Given the description of an element on the screen output the (x, y) to click on. 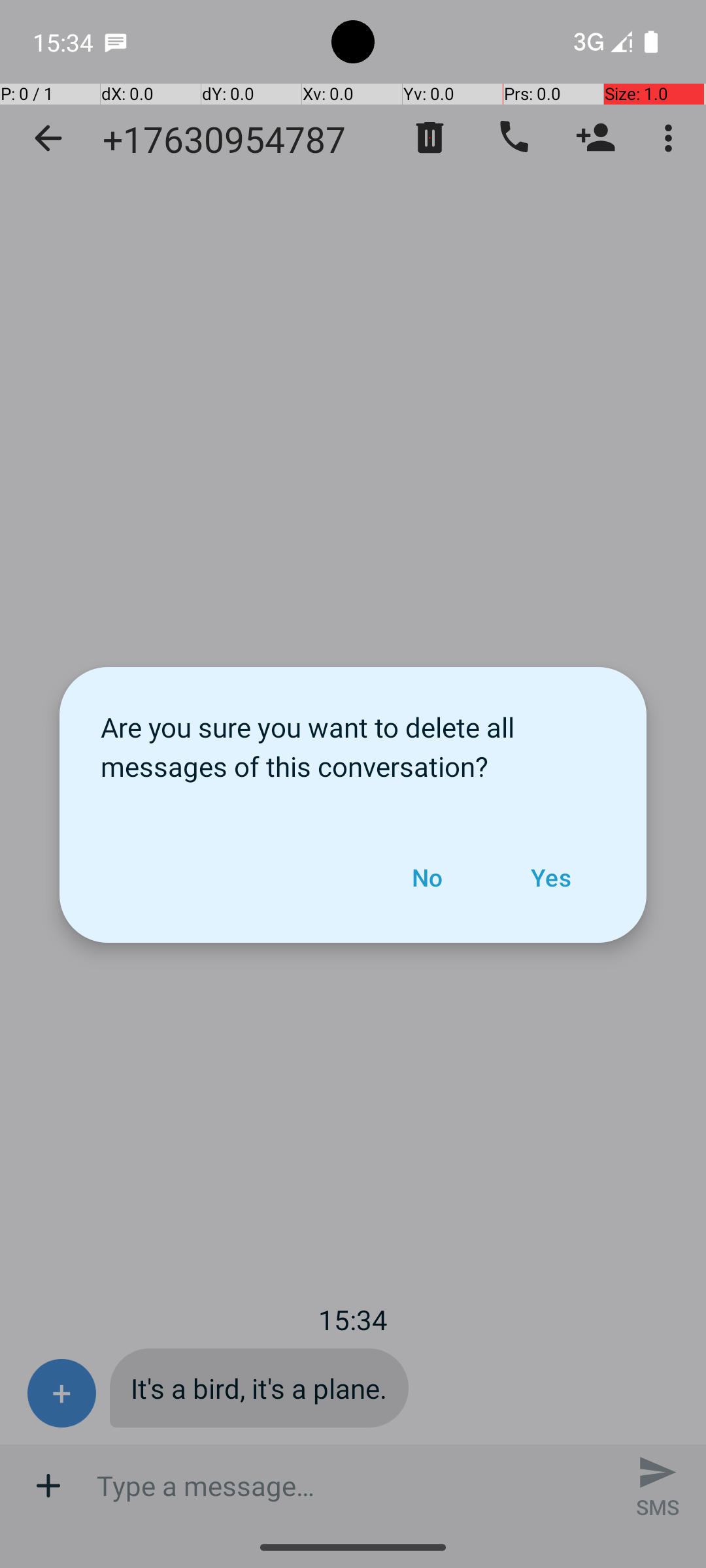
Are you sure you want to delete all messages of this conversation? Element type: android.widget.TextView (352, 739)
No Element type: android.widget.Button (426, 877)
Yes Element type: android.widget.Button (550, 877)
